Given the description of an element on the screen output the (x, y) to click on. 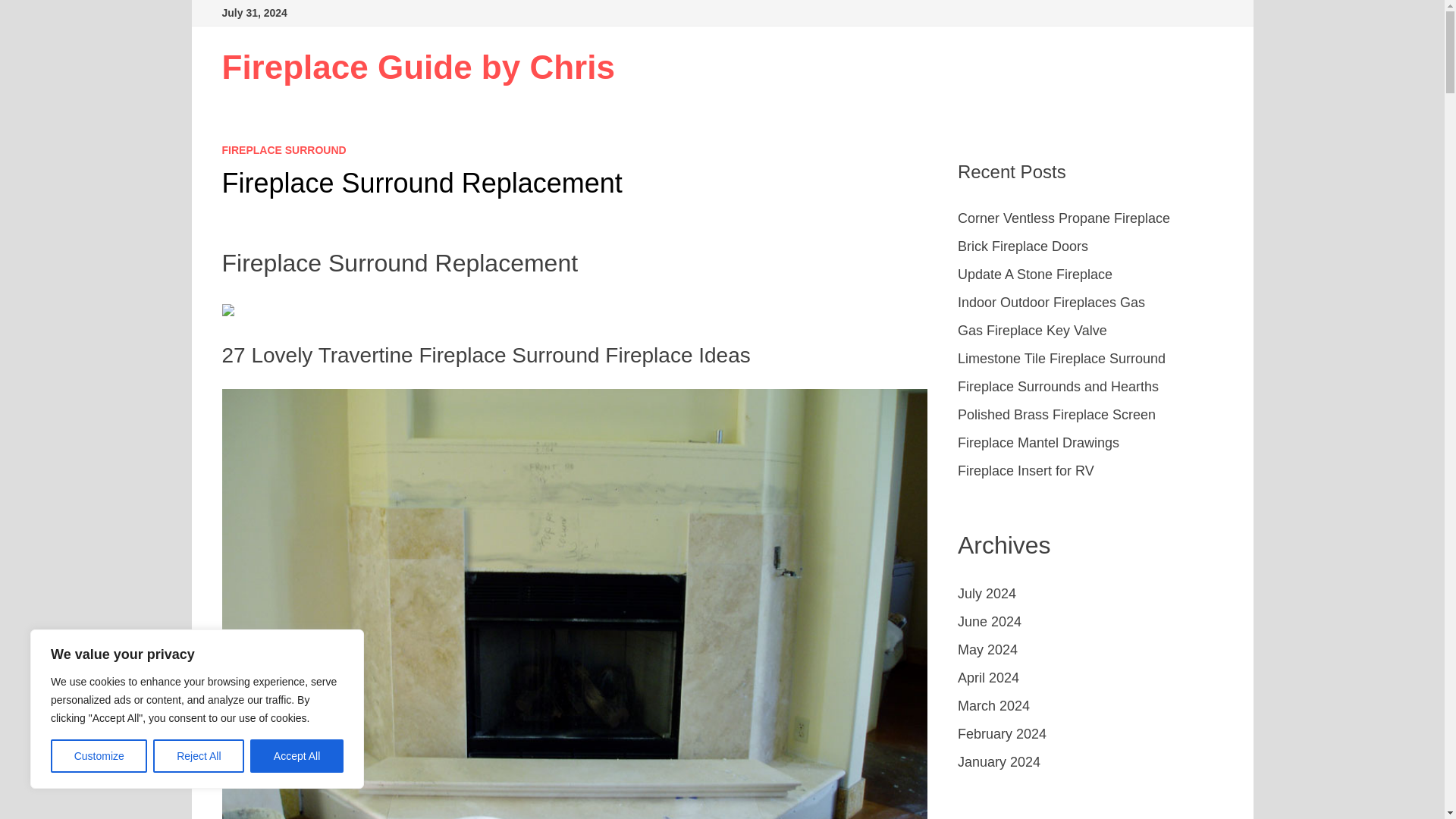
Customize (98, 756)
Fireplace Guide by Chris (417, 66)
Reject All (198, 756)
Accept All (296, 756)
FIREPLACE SURROUND (283, 150)
